Given the description of an element on the screen output the (x, y) to click on. 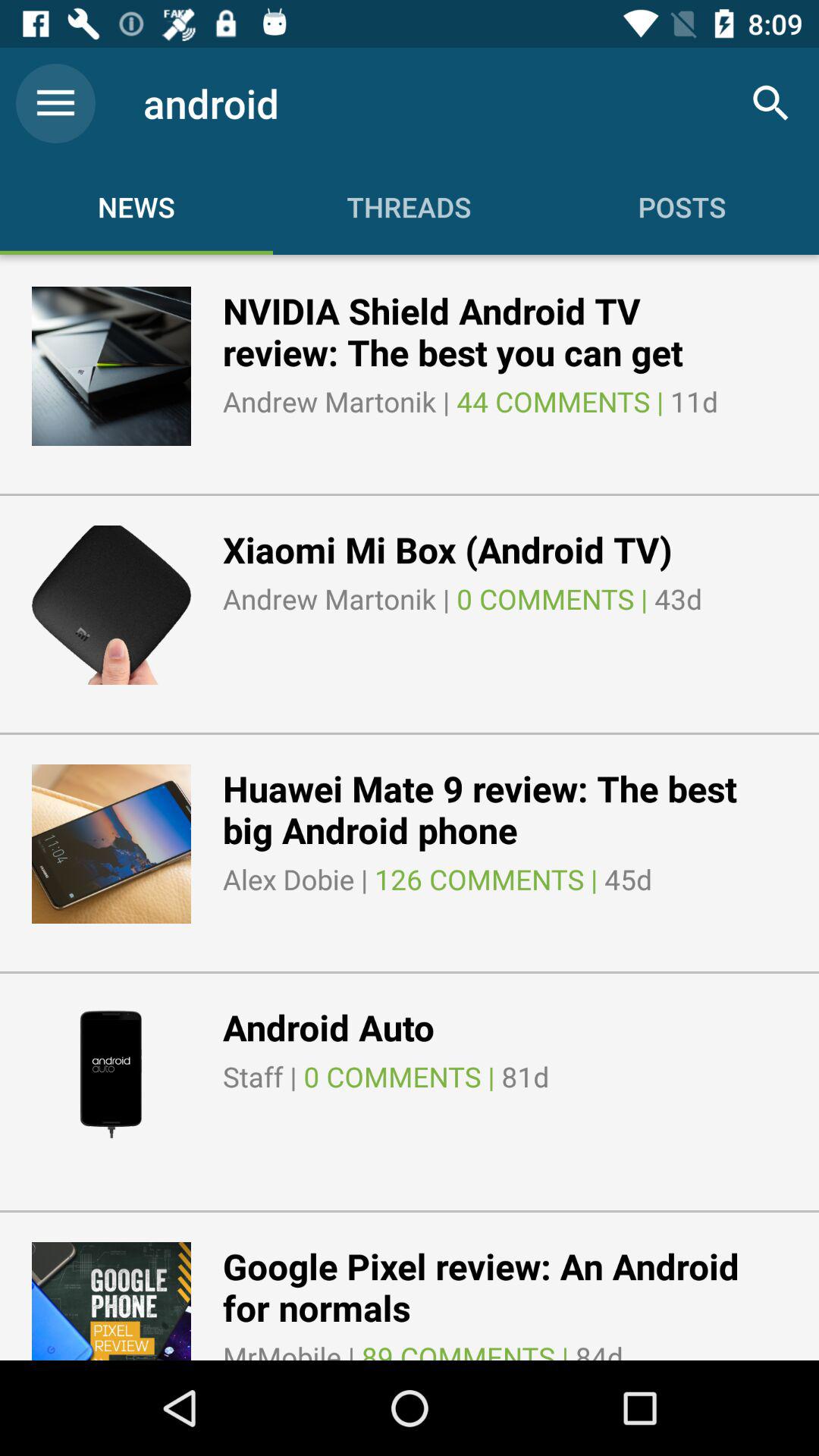
open the item above the posts icon (771, 103)
